Given the description of an element on the screen output the (x, y) to click on. 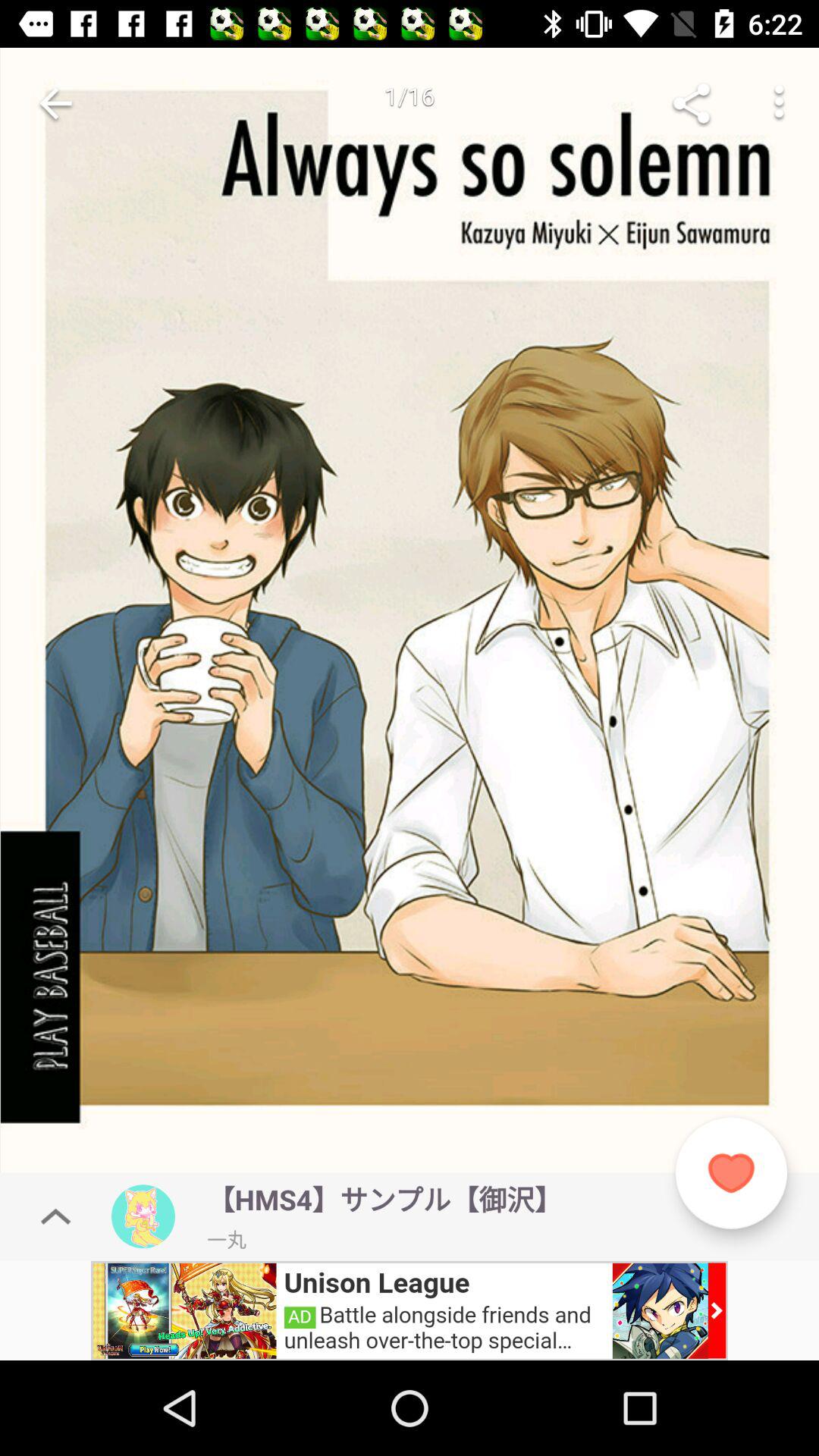
go share image or video (691, 103)
